Given the description of an element on the screen output the (x, y) to click on. 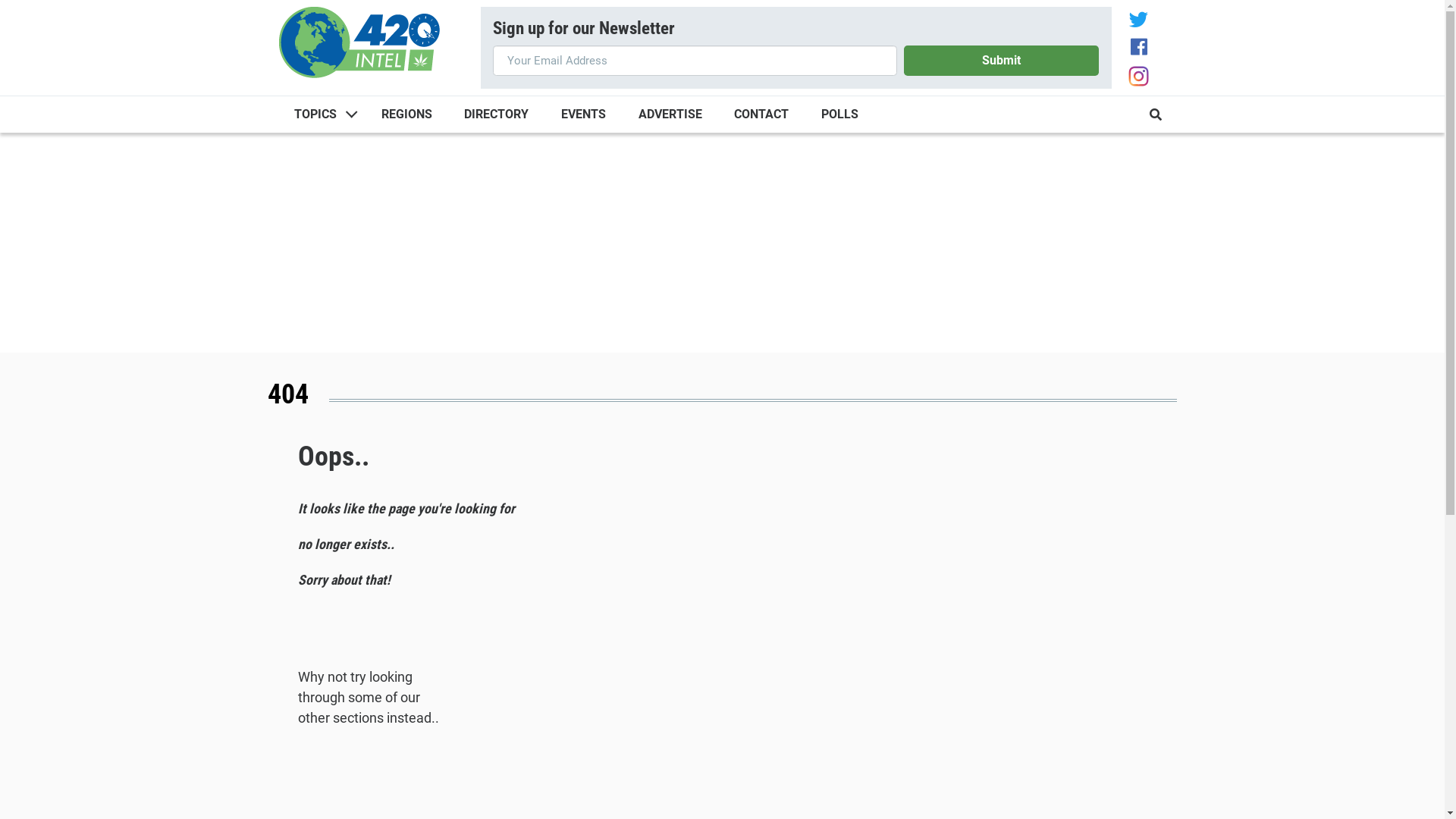
ADVERTISE Element type: text (670, 114)
Submit Element type: text (1001, 60)
REGIONS Element type: text (406, 114)
DIRECTORY Element type: text (496, 114)
EVENTS Element type: text (583, 114)
Follow us on Facebook Element type: hover (1137, 48)
CONTACT Element type: text (761, 114)
Skip to main content Element type: text (0, 0)
Search Element type: text (1155, 114)
Advertisement Element type: hover (721, 246)
Follow us on Twitter Element type: hover (1138, 21)
Search Element type: text (1144, 155)
POLLS Element type: text (839, 114)
